Given the description of an element on the screen output the (x, y) to click on. 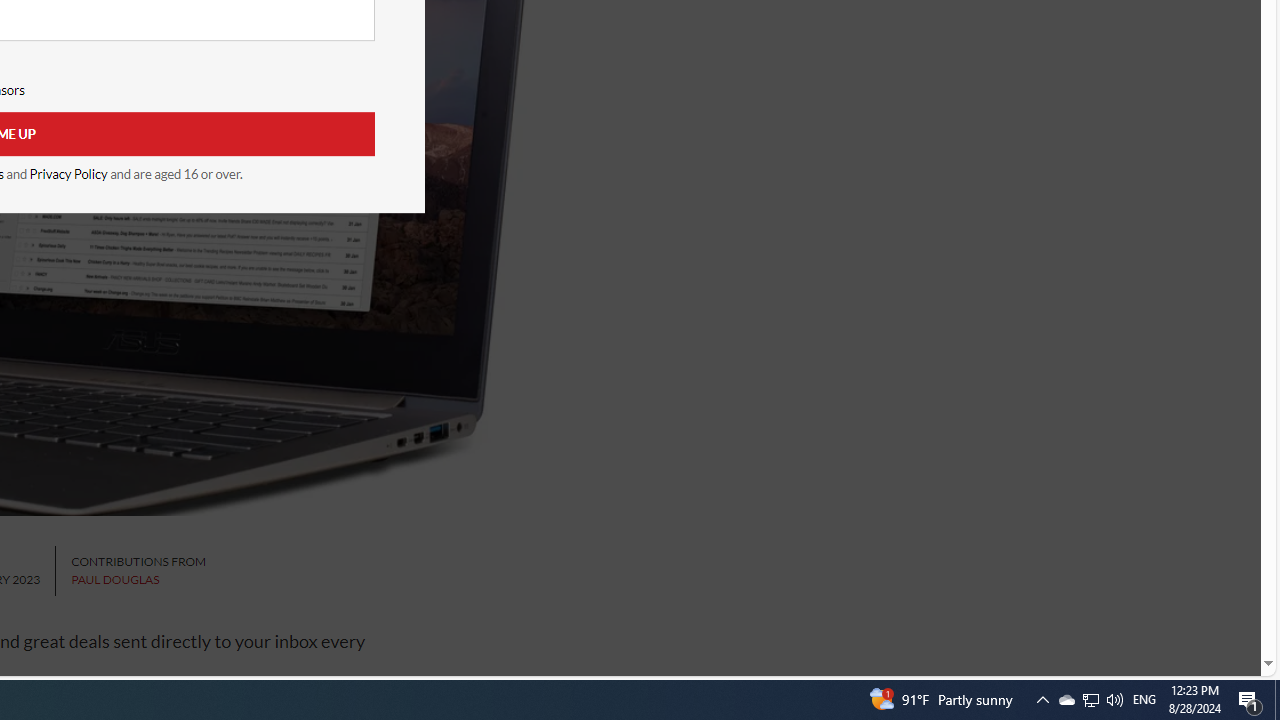
PAUL DOUGLAS (115, 579)
Privacy Policy (68, 174)
